Given the description of an element on the screen output the (x, y) to click on. 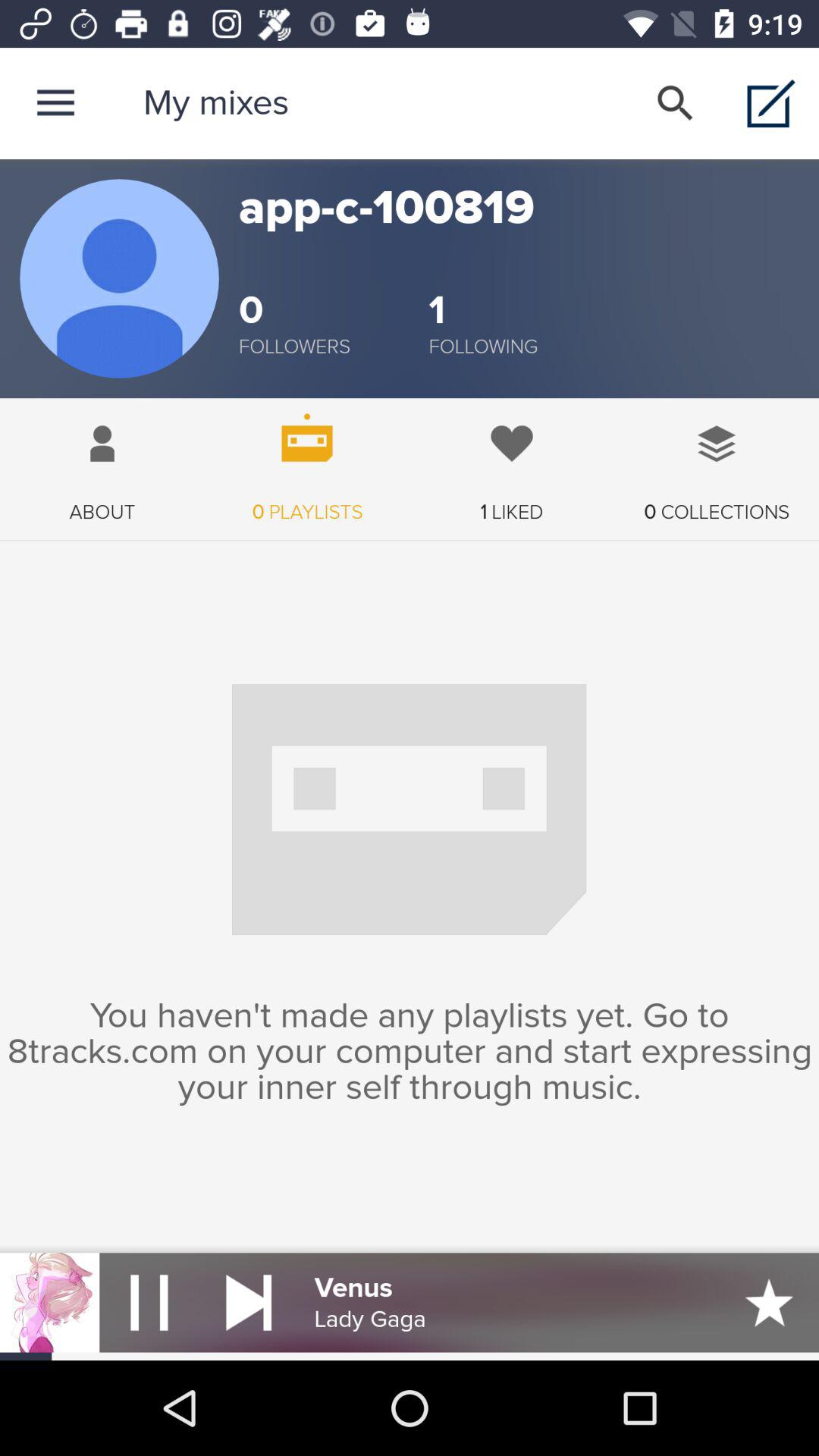
turn off icon to the right of the about (306, 461)
